Given the description of an element on the screen output the (x, y) to click on. 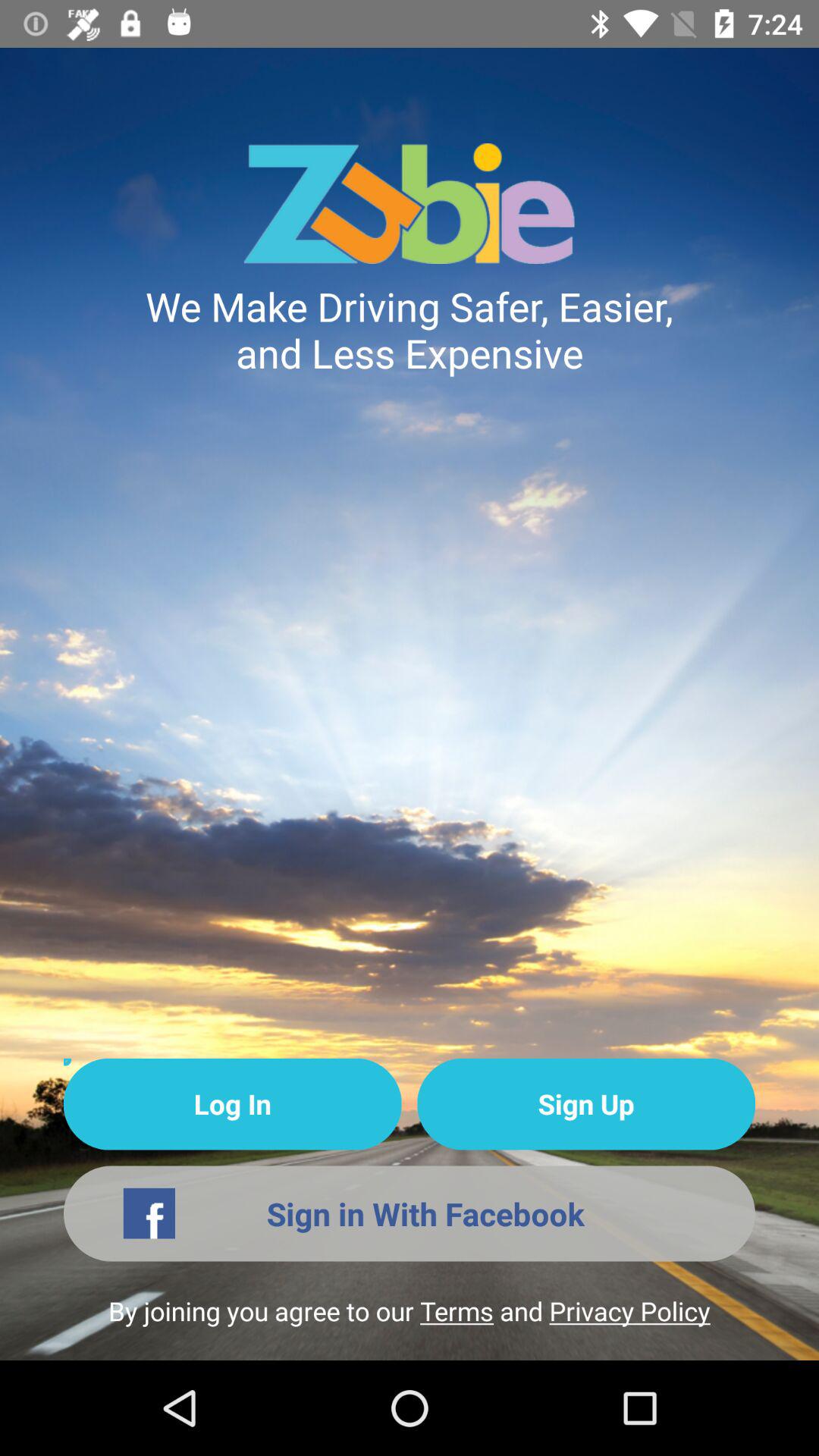
click the icon above the by joining you (409, 1213)
